Given the description of an element on the screen output the (x, y) to click on. 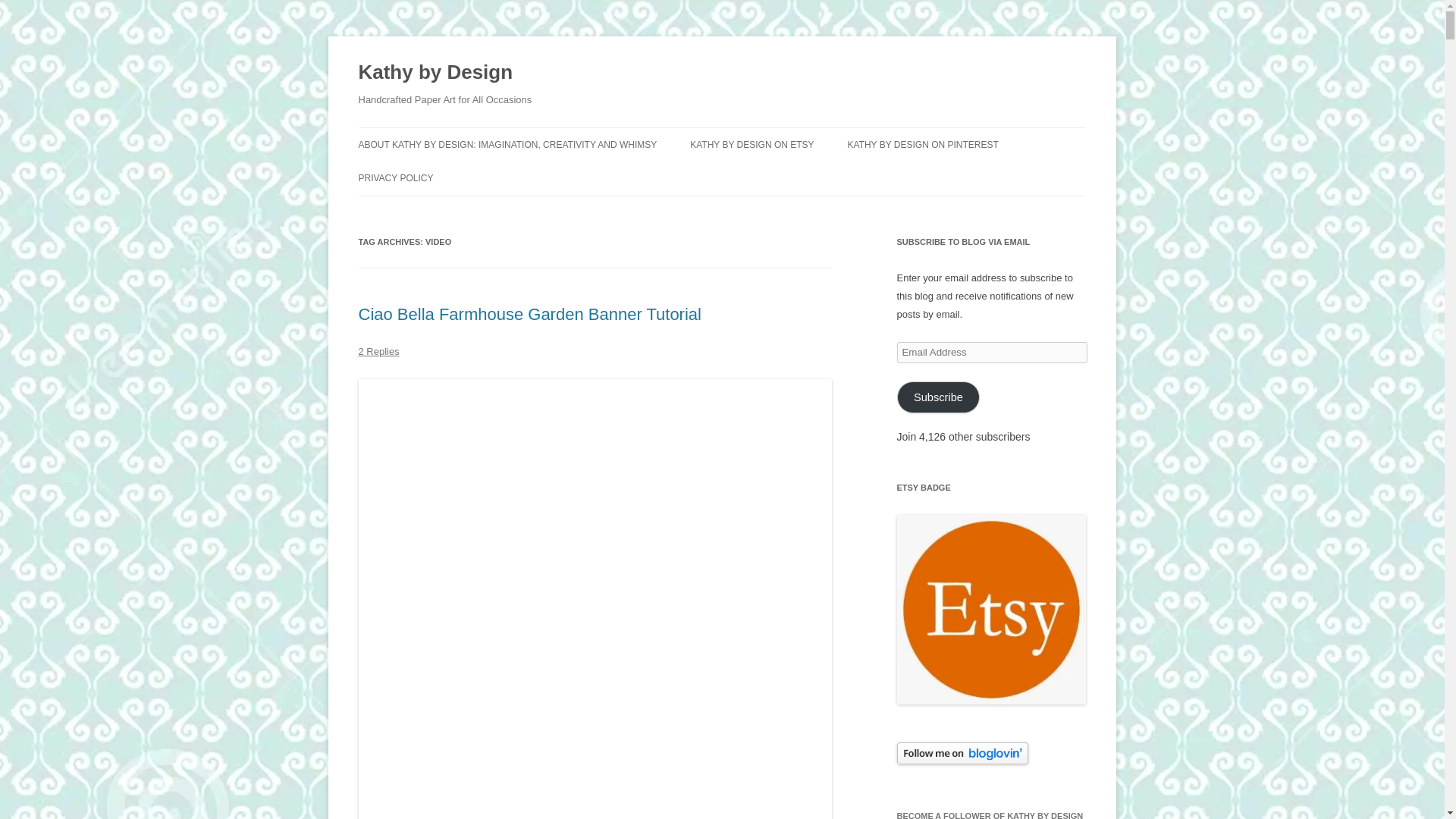
ABOUT KATHY BY DESIGN: IMAGINATION, CREATIVITY AND WHIMSY (507, 144)
PRIVACY POLICY (395, 177)
KATHY BY DESIGN ON PINTEREST (922, 144)
2 Replies (378, 351)
Ciao Bella Farmhouse Garden Banner Tutorial (529, 313)
Kathy by Design (435, 72)
KATHY BY DESIGN ON ETSY (751, 144)
